Given the description of an element on the screen output the (x, y) to click on. 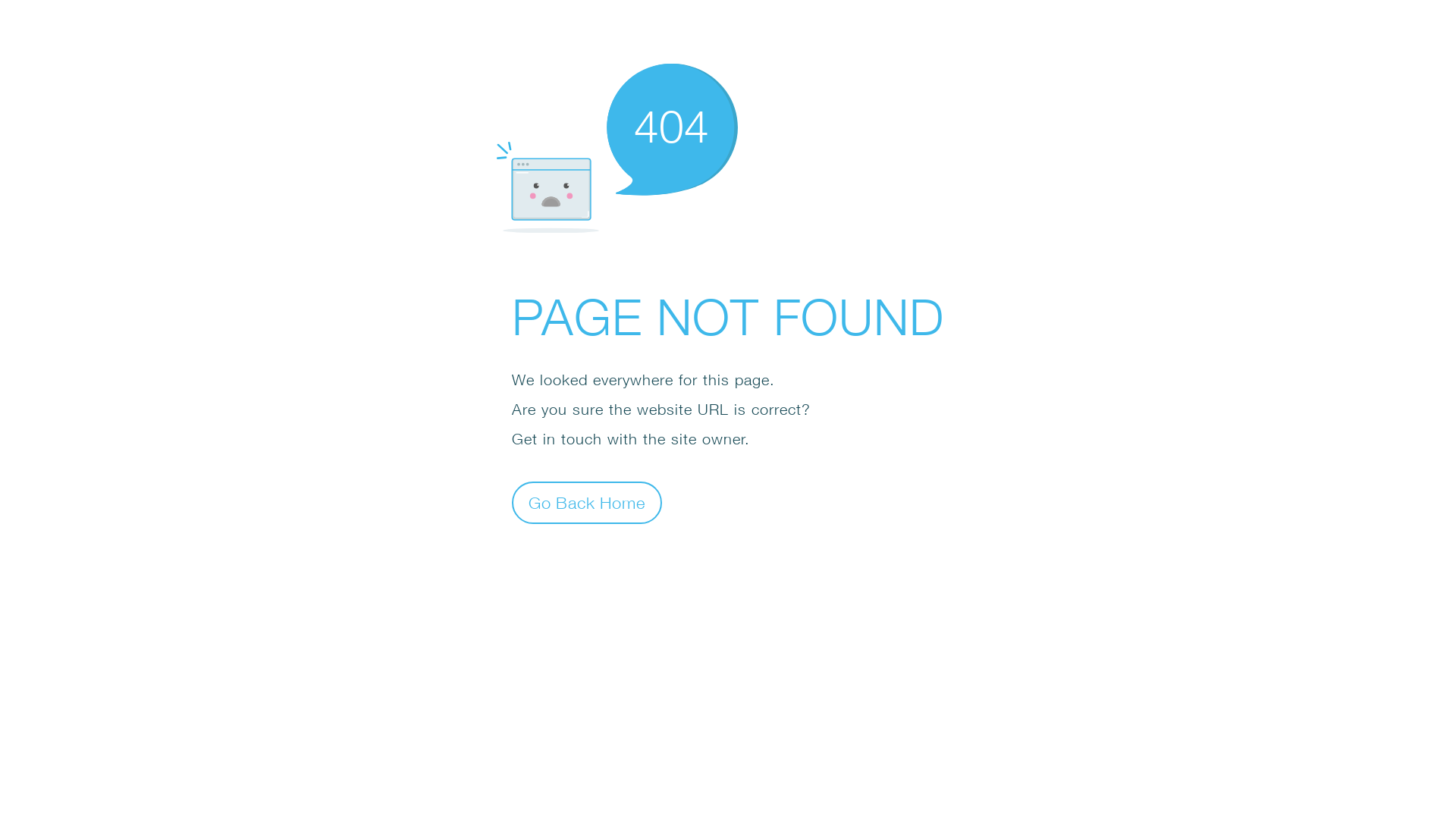
Go Back Home Element type: text (586, 502)
